Given the description of an element on the screen output the (x, y) to click on. 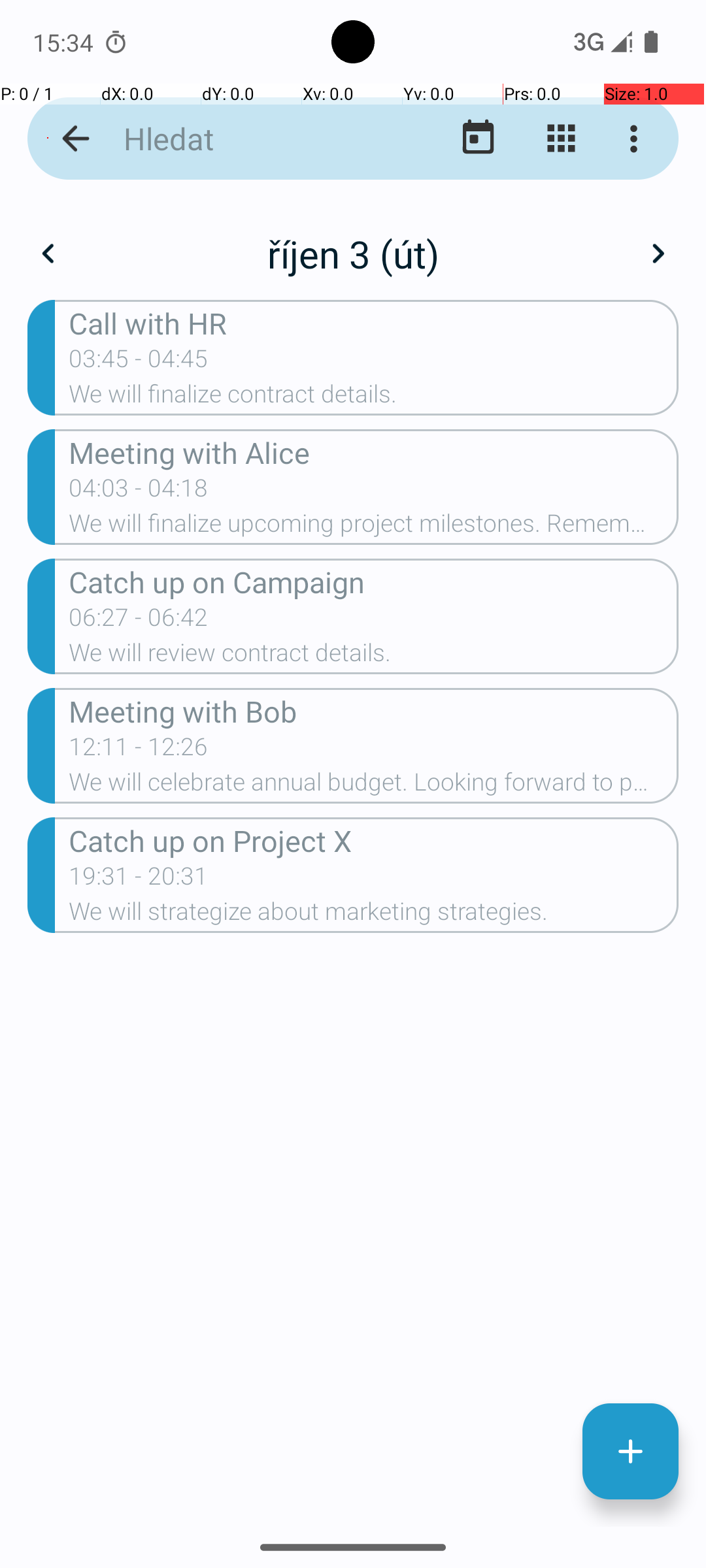
LEDEN Element type: android.widget.TextView (123, 319)
ÚNOR Element type: android.widget.TextView (352, 319)
BŘEZEN Element type: android.widget.TextView (582, 319)
DUBEN Element type: android.widget.TextView (123, 621)
KVĚTEN Element type: android.widget.TextView (352, 621)
ČERVEN Element type: android.widget.TextView (582, 621)
ČERVENEC Element type: android.widget.TextView (123, 923)
SRPEN Element type: android.widget.TextView (352, 923)
ZÁŘÍ Element type: android.widget.TextView (582, 923)
ŘÍJEN Element type: android.widget.TextView (123, 1224)
LISTOPAD Element type: android.widget.TextView (352, 1224)
PROSINEC Element type: android.widget.TextView (582, 1224)
září Element type: android.widget.TextView (352, 239)
říjen 3 (út) Element type: android.widget.TextView (352, 253)
03:45 - 04:45 Element type: android.widget.TextView (137, 362)
We will finalize contract details. Element type: android.widget.TextView (373, 397)
04:03 - 04:18 Element type: android.widget.TextView (137, 491)
We will finalize upcoming project milestones. Remember to confirm attendance. Element type: android.widget.TextView (373, 526)
06:27 - 06:42 Element type: android.widget.TextView (137, 620)
We will review contract details. Element type: android.widget.TextView (373, 656)
12:11 - 12:26 Element type: android.widget.TextView (137, 750)
We will celebrate annual budget. Looking forward to productive discussions. Element type: android.widget.TextView (373, 785)
19:31 - 20:31 Element type: android.widget.TextView (137, 879)
We will strategize about marketing strategies. Element type: android.widget.TextView (373, 914)
